Given the description of an element on the screen output the (x, y) to click on. 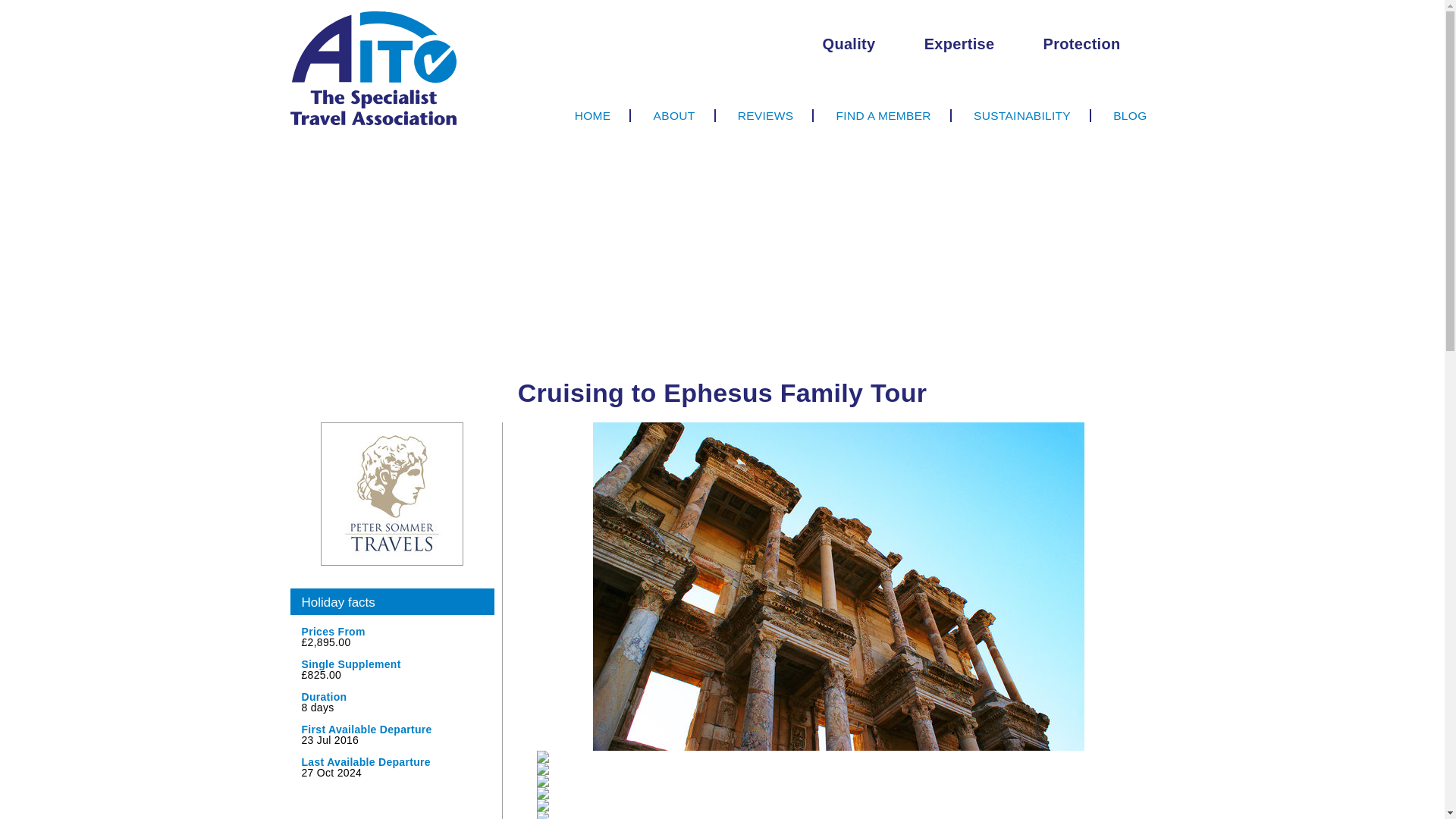
FIND A MEMBER (884, 115)
Reviews (766, 115)
SUSTAINABILITY (1022, 115)
REVIEWS (766, 115)
Blog (1120, 115)
HOME (593, 115)
Sustainability (1022, 115)
BLOG (1120, 115)
ABOUT (675, 115)
AITO: The Association of Independent Tour Operators (373, 67)
